Given the description of an element on the screen output the (x, y) to click on. 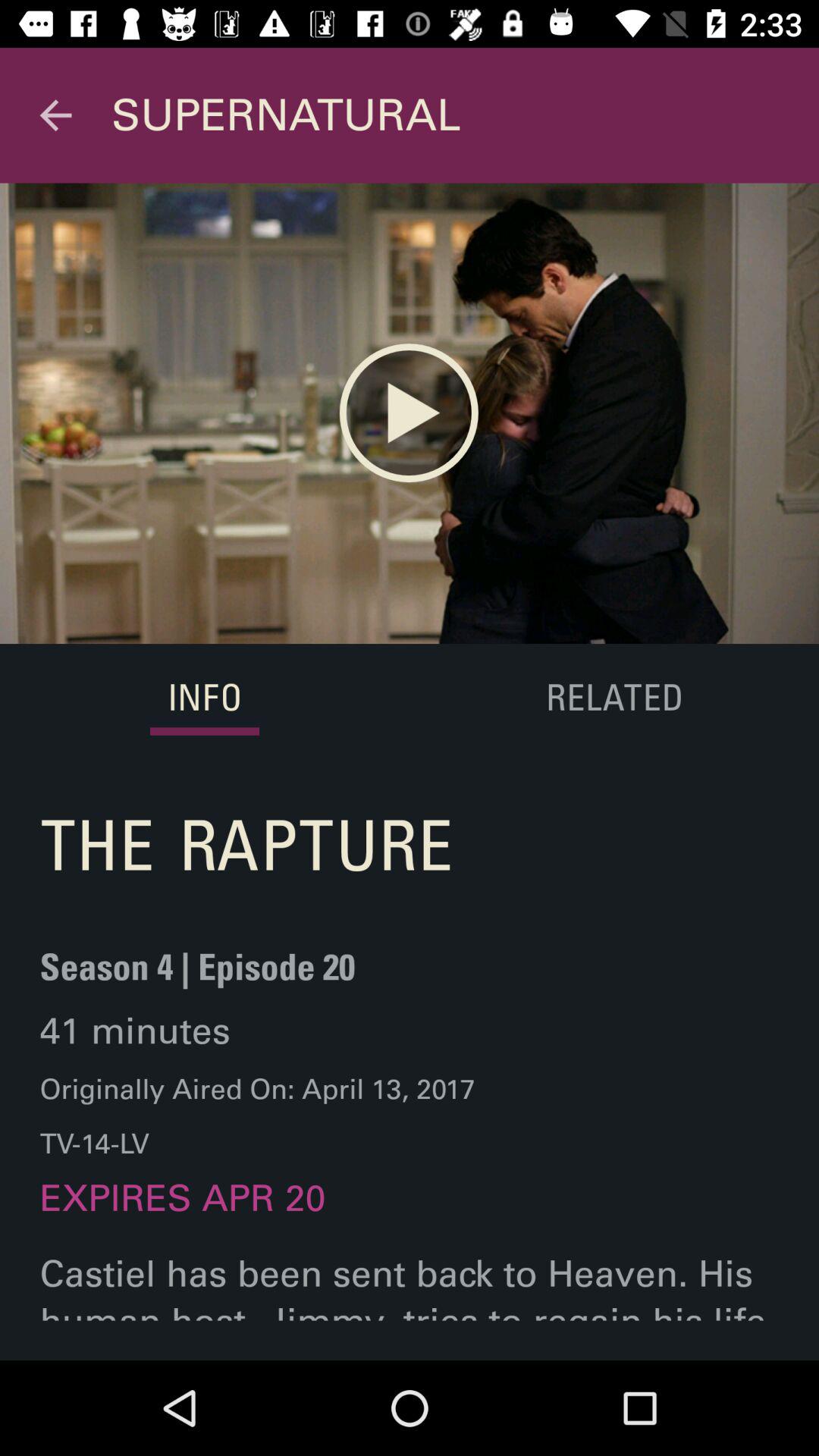
turn on the item above the castiel has been icon (613, 699)
